Given the description of an element on the screen output the (x, y) to click on. 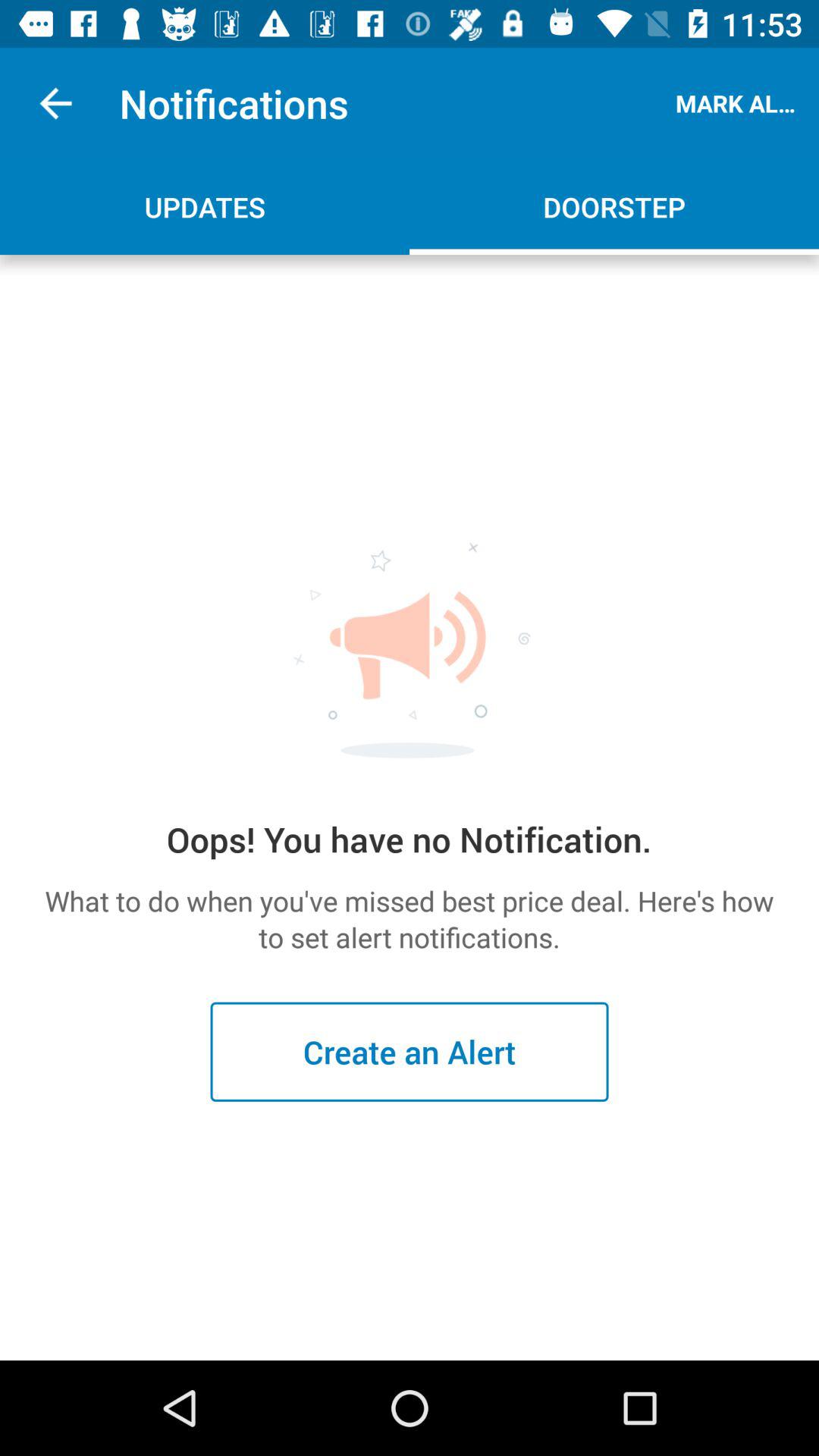
click the icon next to notifications item (739, 103)
